Given the description of an element on the screen output the (x, y) to click on. 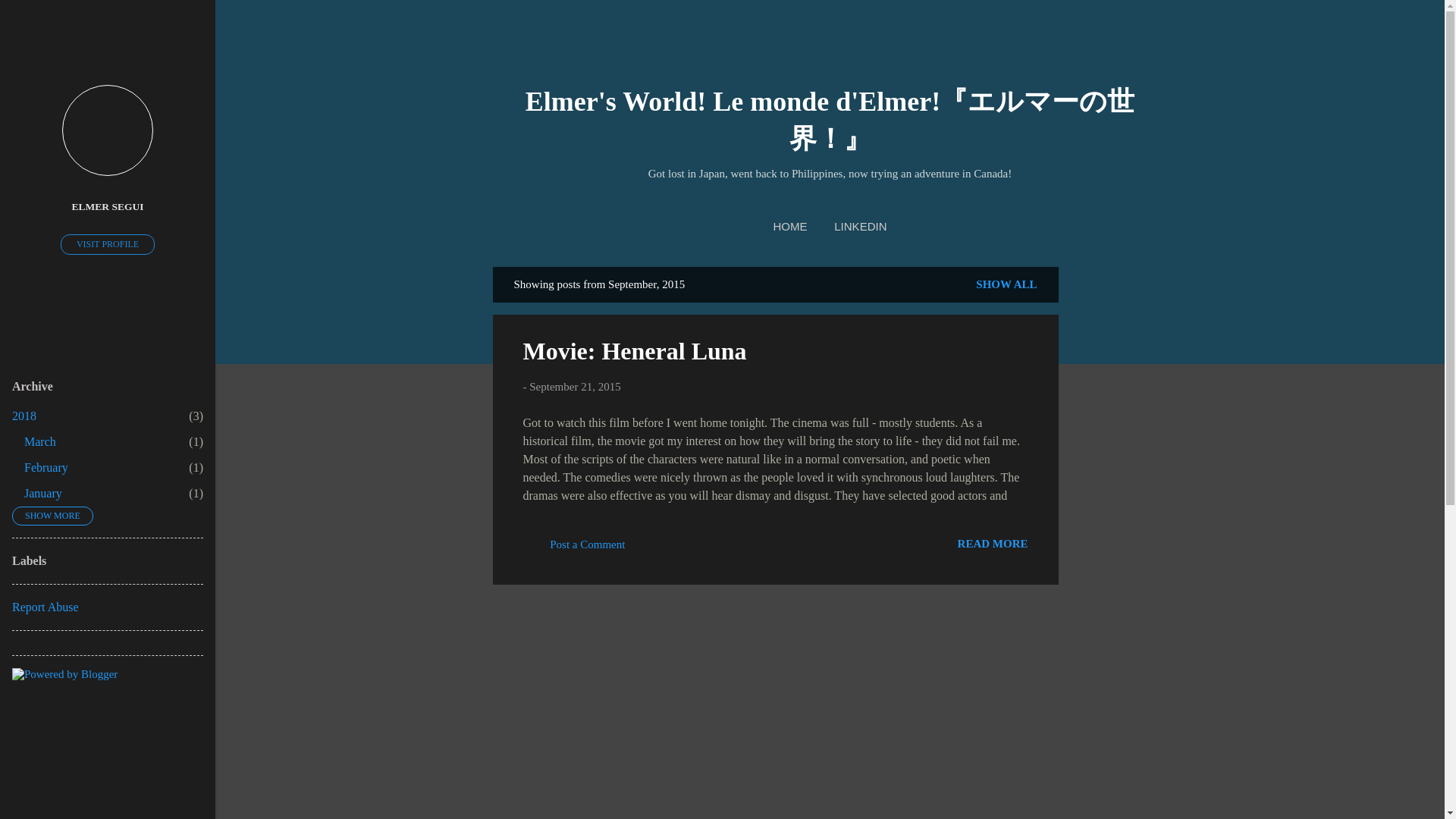
Search (29, 18)
HOME (790, 226)
LINKEDIN (46, 467)
Post a Comment (43, 492)
Movie: Heneral Luna (860, 226)
ELMER SEGUI (574, 549)
September 21, 2015 (634, 350)
SHOW ALL (107, 206)
